Given the description of an element on the screen output the (x, y) to click on. 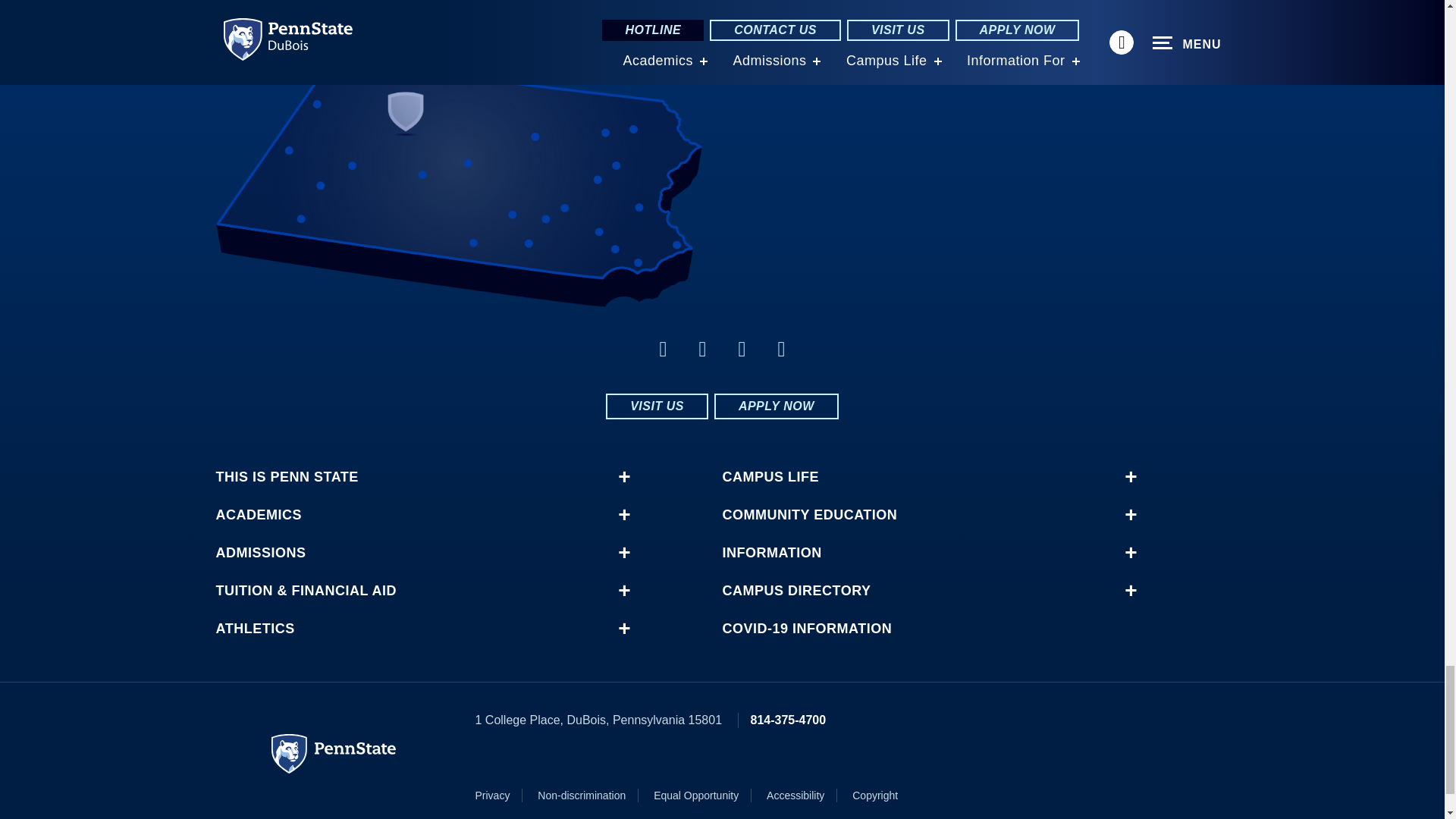
Penn State University (333, 753)
instagram (781, 349)
twitter (741, 349)
facebook (662, 349)
linkedin (702, 349)
COVID-19 Information (921, 628)
